Given the description of an element on the screen output the (x, y) to click on. 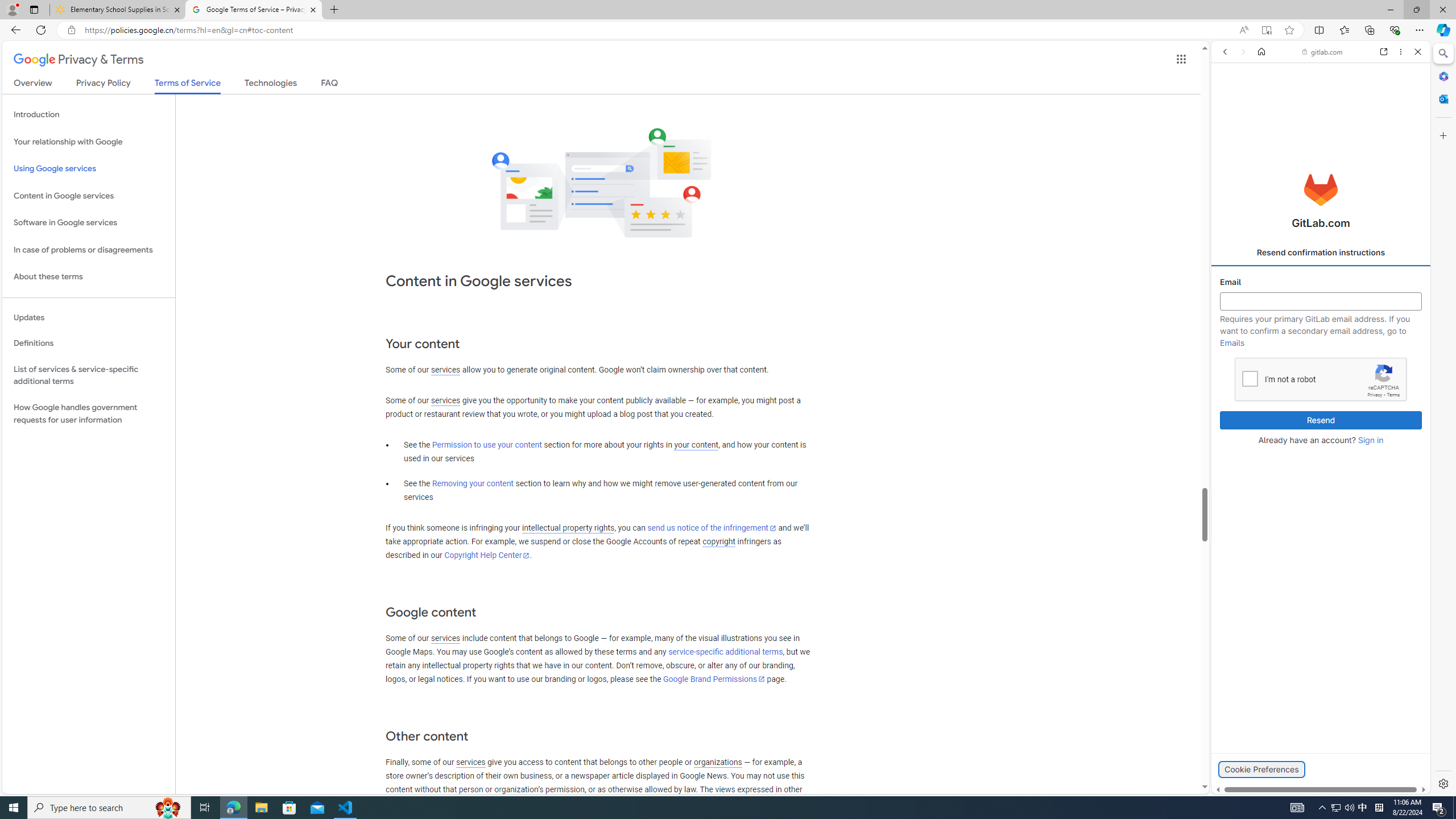
Confirmation Page (1320, 389)
Register Now (1320, 253)
Login (1320, 281)
Close Search pane (1442, 53)
